Given the description of an element on the screen output the (x, y) to click on. 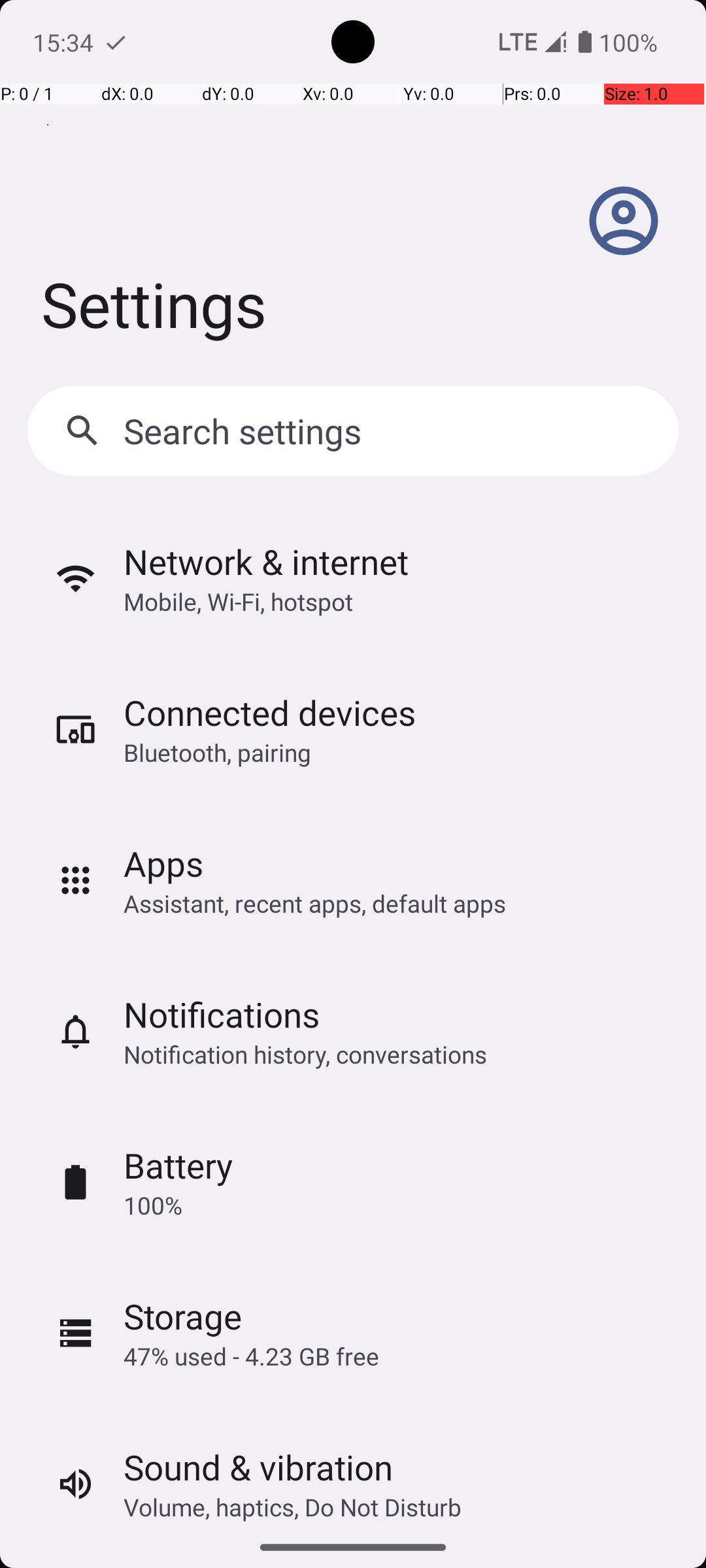
47% used - 4.23 GB free Element type: android.widget.TextView (251, 1355)
